Given the description of an element on the screen output the (x, y) to click on. 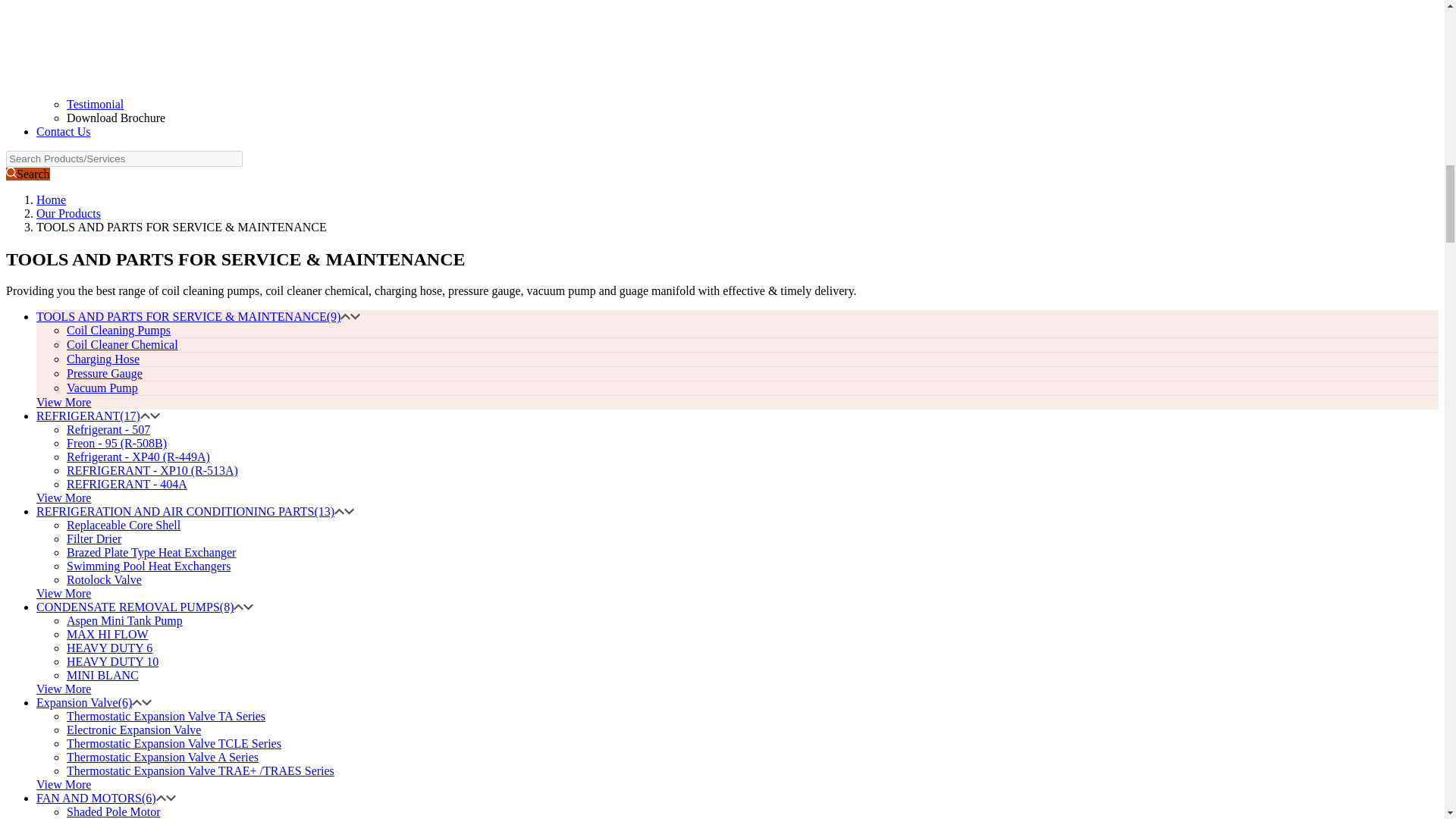
Testimonial (94, 103)
Contact Us (63, 131)
Coil Cleaning Pumps (118, 329)
Home (50, 199)
Our Products (68, 213)
